Given the description of an element on the screen output the (x, y) to click on. 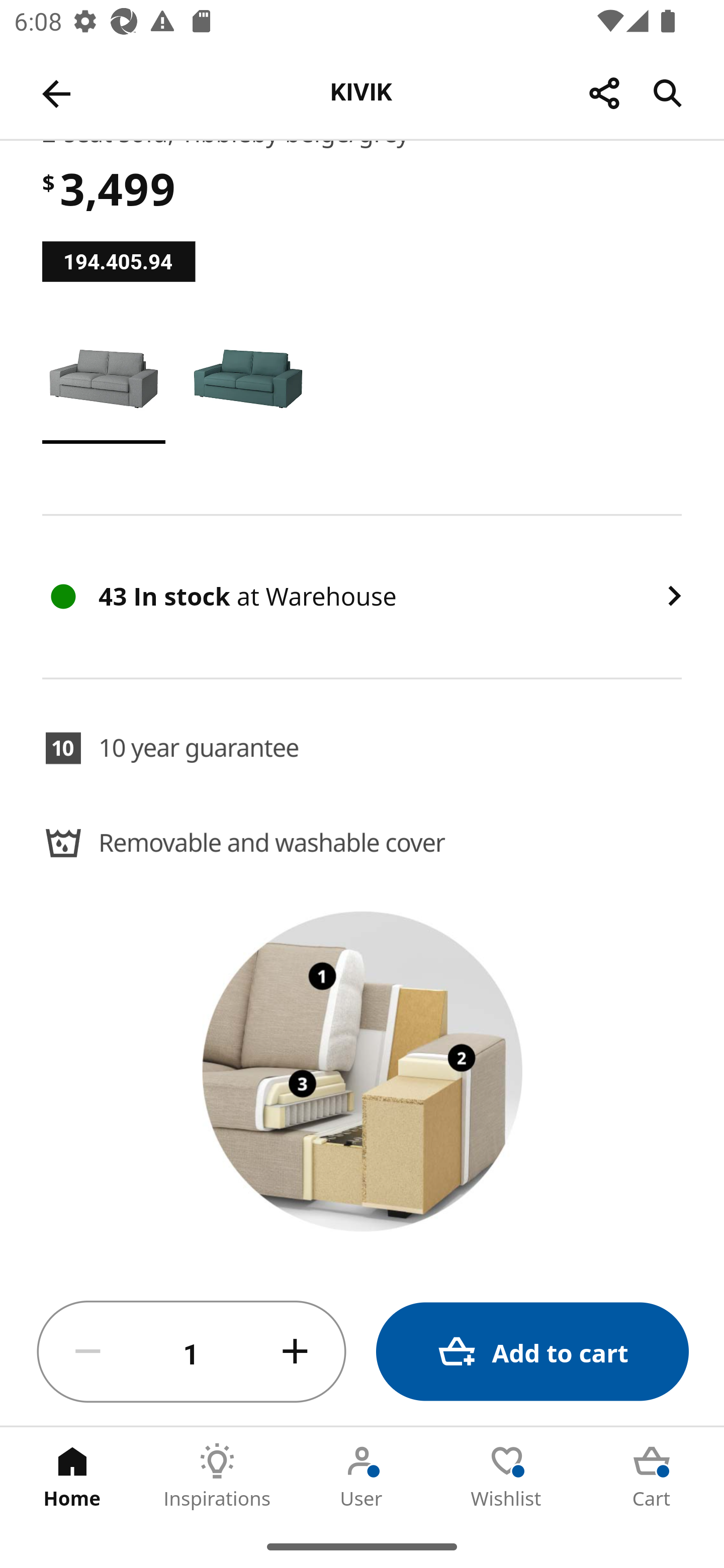
43 In stock at Warehouse (361, 596)
Add to cart (531, 1352)
1 (191, 1352)
Home
Tab 1 of 5 (72, 1476)
Inspirations
Tab 2 of 5 (216, 1476)
User
Tab 3 of 5 (361, 1476)
Wishlist
Tab 4 of 5 (506, 1476)
Cart
Tab 5 of 5 (651, 1476)
